Given the description of an element on the screen output the (x, y) to click on. 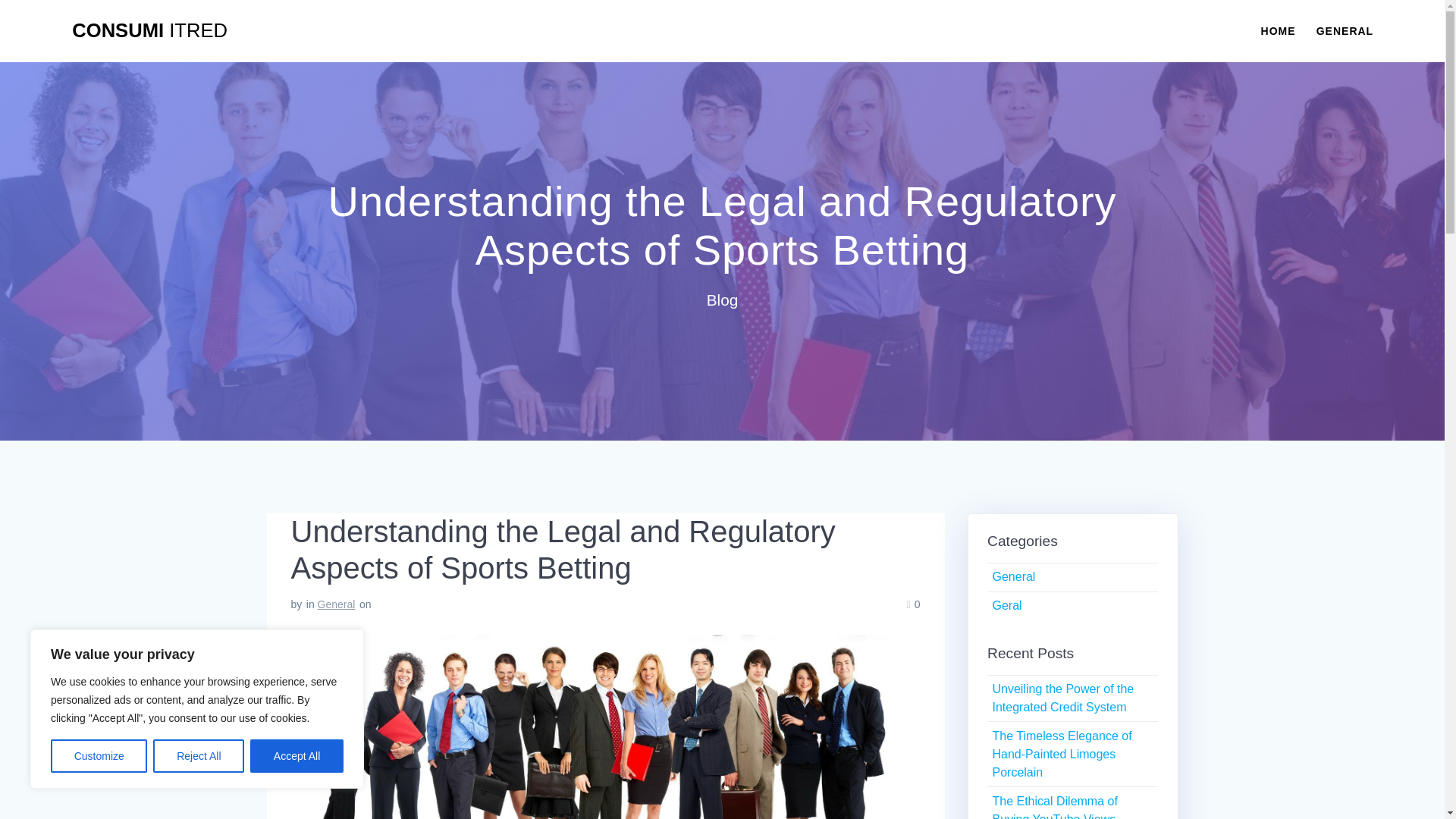
Customize (98, 756)
The Timeless Elegance of Hand-Painted Limoges Porcelain (1061, 753)
Unveiling the Power of the Integrated Credit System (1062, 697)
CONSUMI ITRED (149, 30)
General (336, 604)
Accept All (296, 756)
HOME (1277, 30)
General (1013, 576)
Reject All (198, 756)
GENERAL (1344, 30)
Geral (1006, 604)
The Ethical Dilemma of Buying YouTube Views (1053, 806)
